Given the description of an element on the screen output the (x, y) to click on. 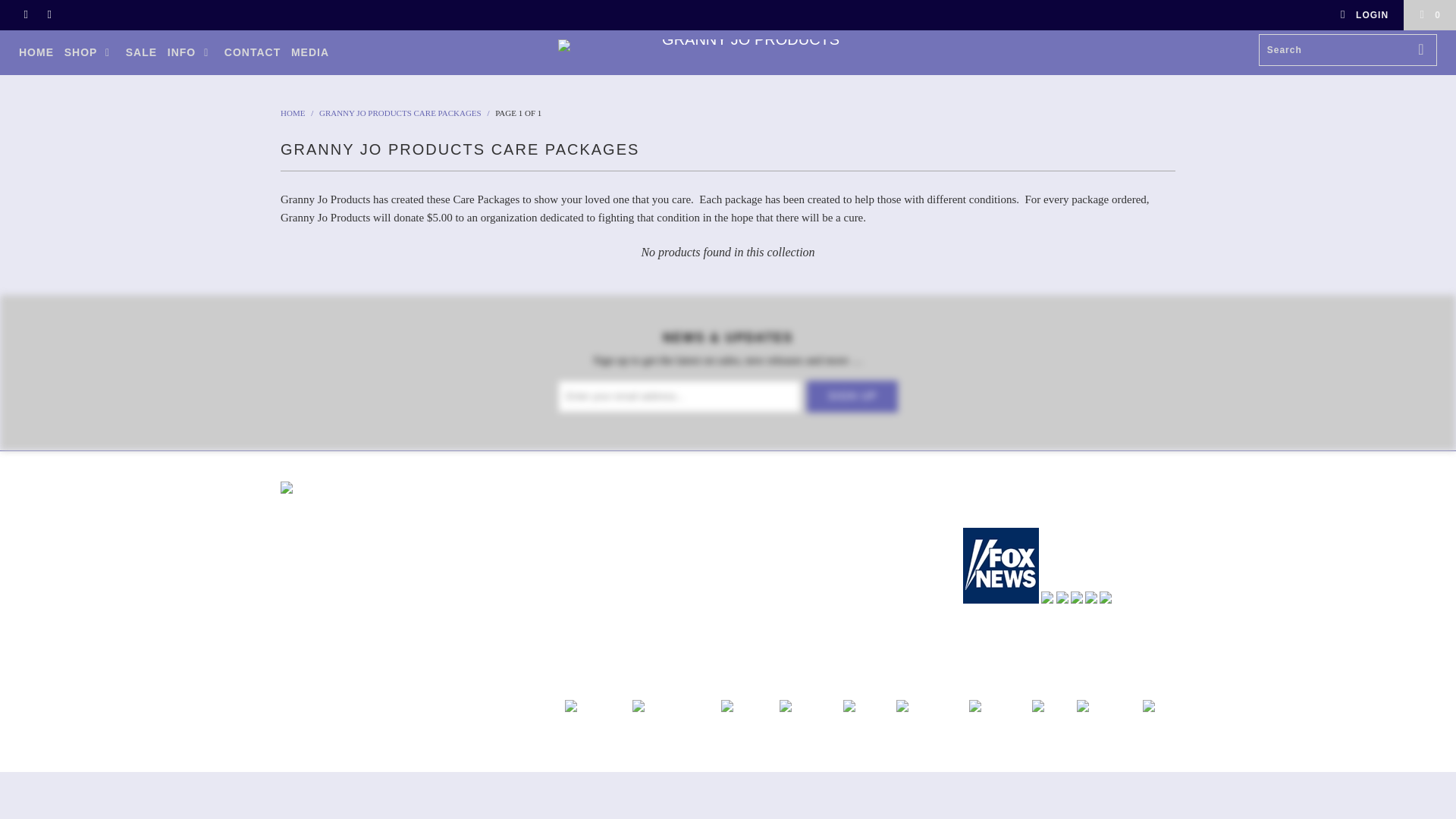
Granny Jo Products (292, 112)
Granny Jo Products on Facebook (48, 14)
Granny Jo Products (727, 45)
Granny Jo Products on Twitter (973, 502)
Granny Jo Products Care Packages (399, 112)
Sign Up (852, 396)
Granny Jo Products on Facebook (1000, 502)
My Account  (1363, 15)
Granny Jo Products on Twitter (25, 14)
